Given the description of an element on the screen output the (x, y) to click on. 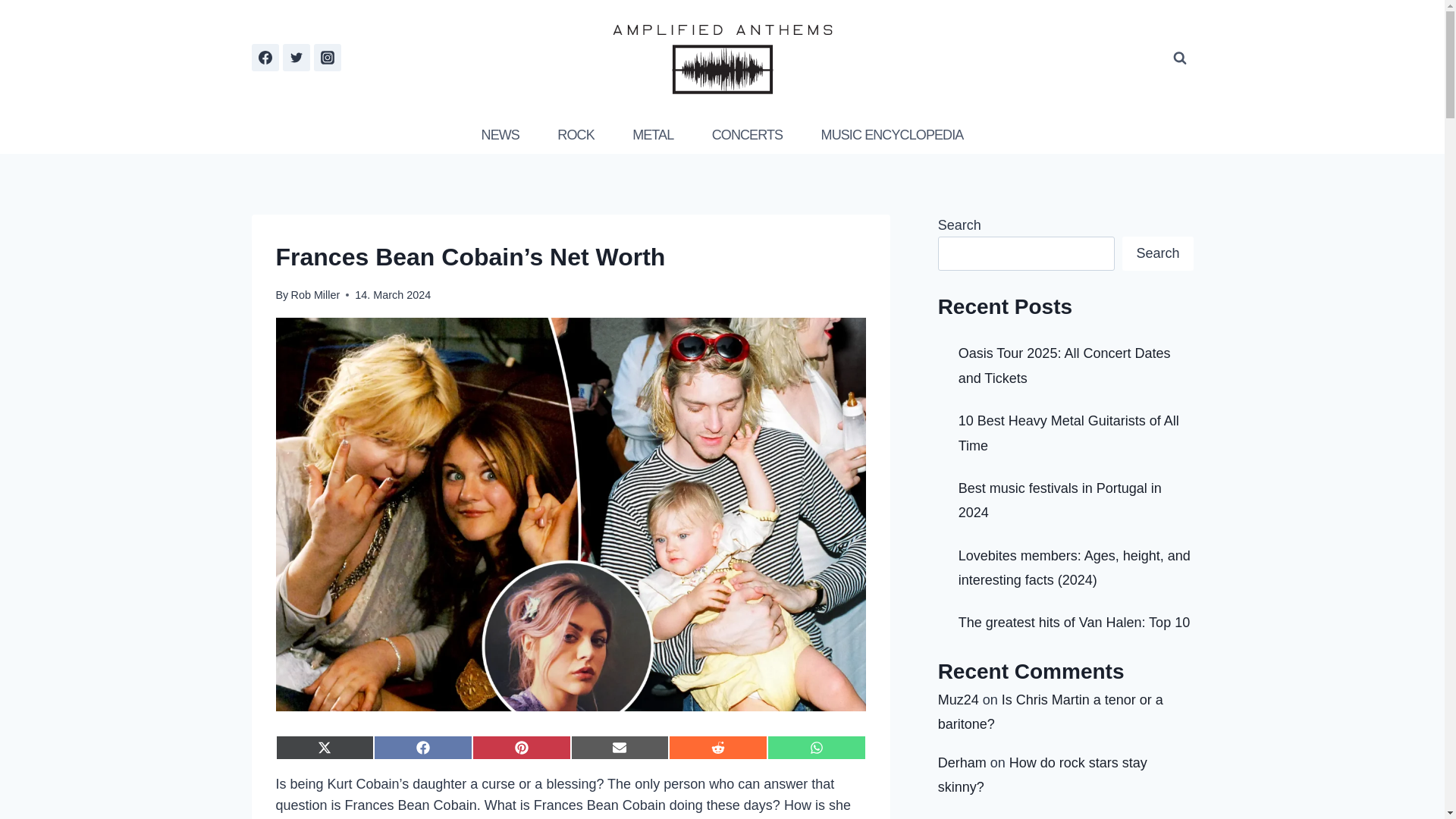
Share on Email (619, 747)
MUSIC ENCYCLOPEDIA (891, 134)
Share on Reddit (717, 747)
ROCK (575, 134)
Rob Miller (314, 295)
METAL (652, 134)
CONCERTS (747, 134)
Share on Facebook (422, 747)
Share on Pinterest (520, 747)
NEWS (499, 134)
